Given the description of an element on the screen output the (x, y) to click on. 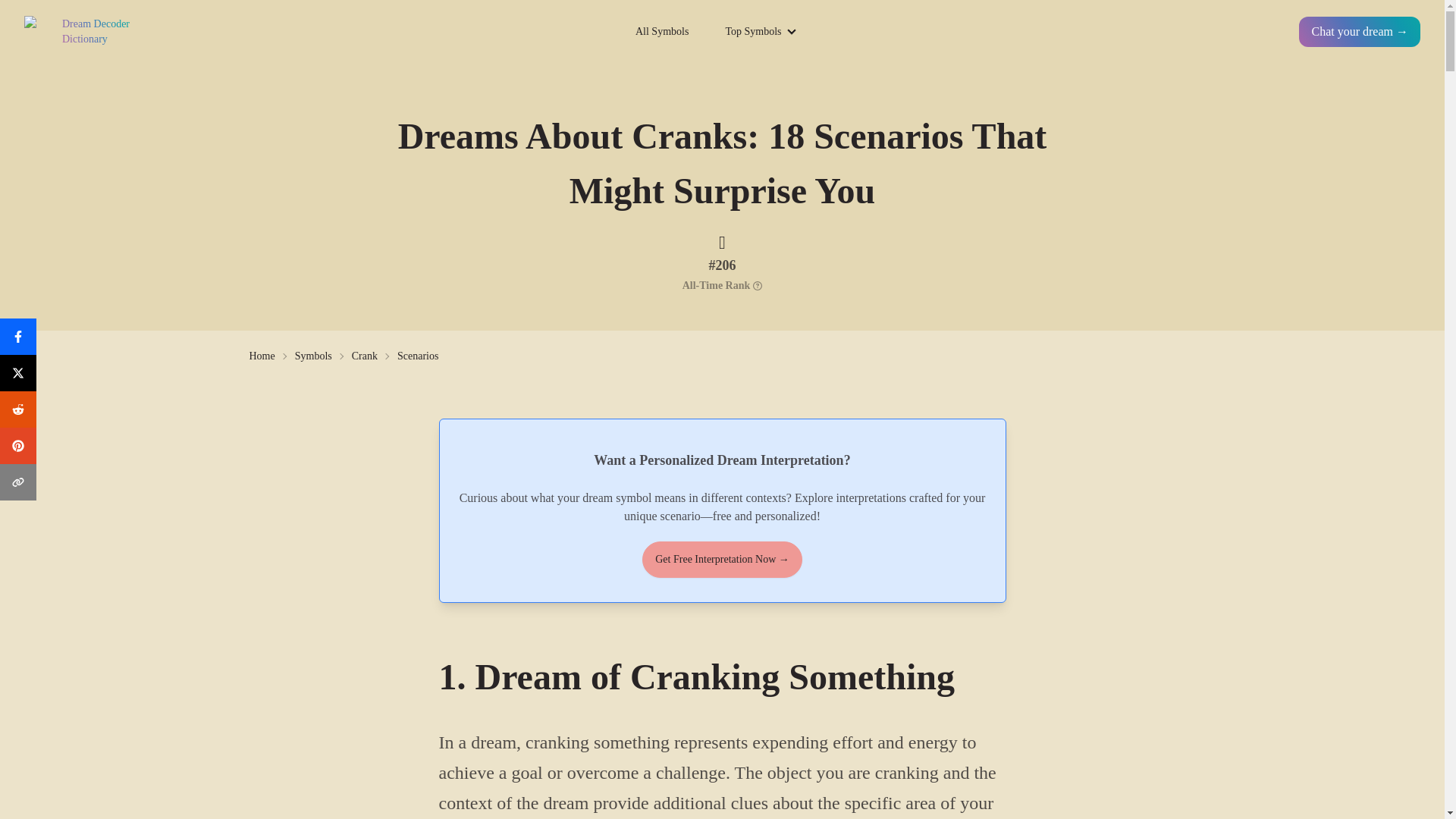
Symbols (313, 355)
All Symbols (661, 31)
Crank (364, 355)
Home (261, 355)
